Given the description of an element on the screen output the (x, y) to click on. 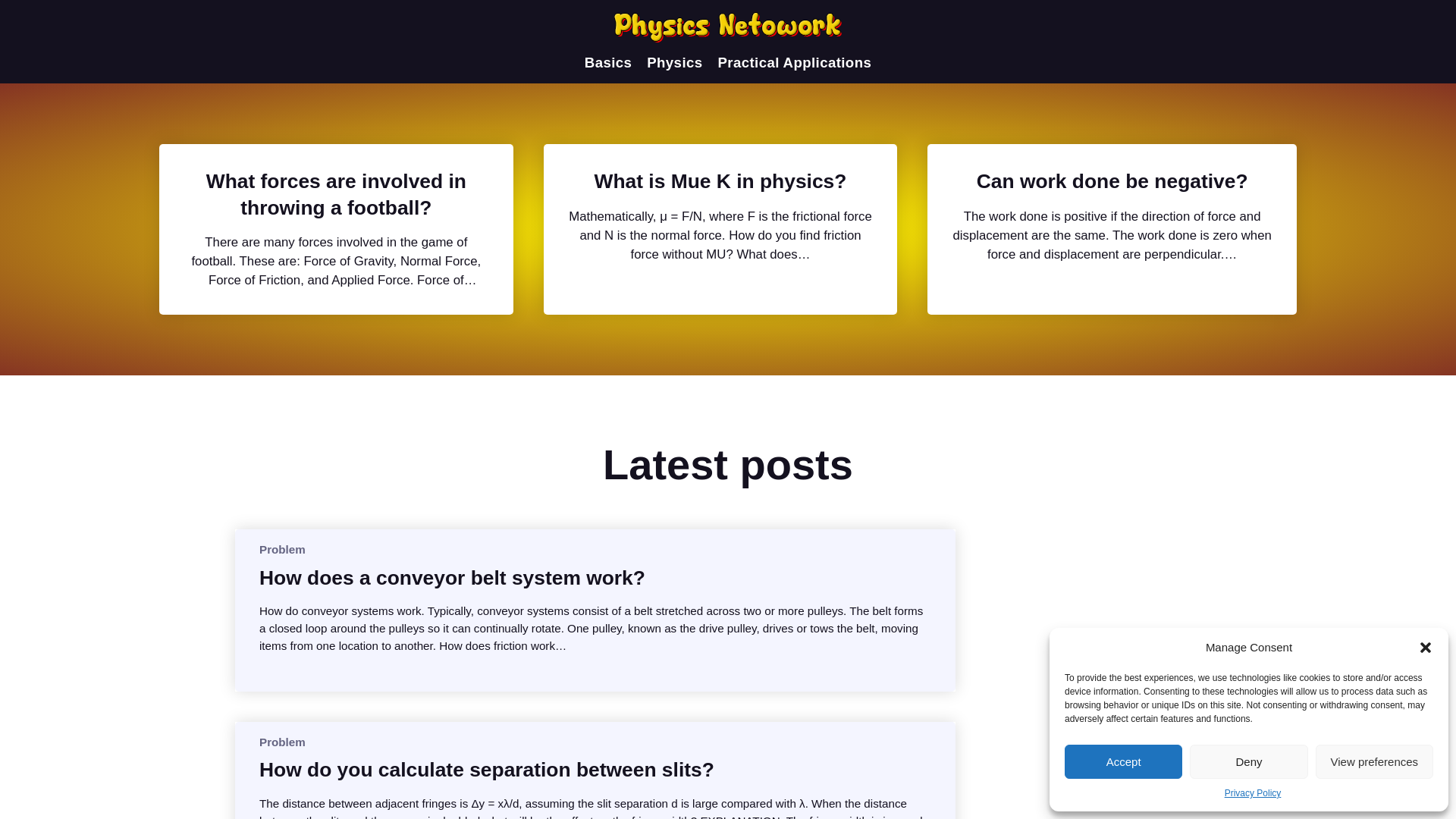
Problem (282, 549)
Basics (608, 62)
Problem (282, 741)
Deny (1248, 761)
What forces are involved in throwing a football? (336, 194)
View preferences (1374, 761)
Practical Applications (793, 62)
How does a conveyor belt system work? (452, 577)
What is Mue K in physics? (720, 181)
Privacy Policy (1252, 793)
How do you calculate separation between slits? (486, 769)
Accept (1123, 761)
Can work done be negative? (1111, 181)
Physics (673, 62)
